Given the description of an element on the screen output the (x, y) to click on. 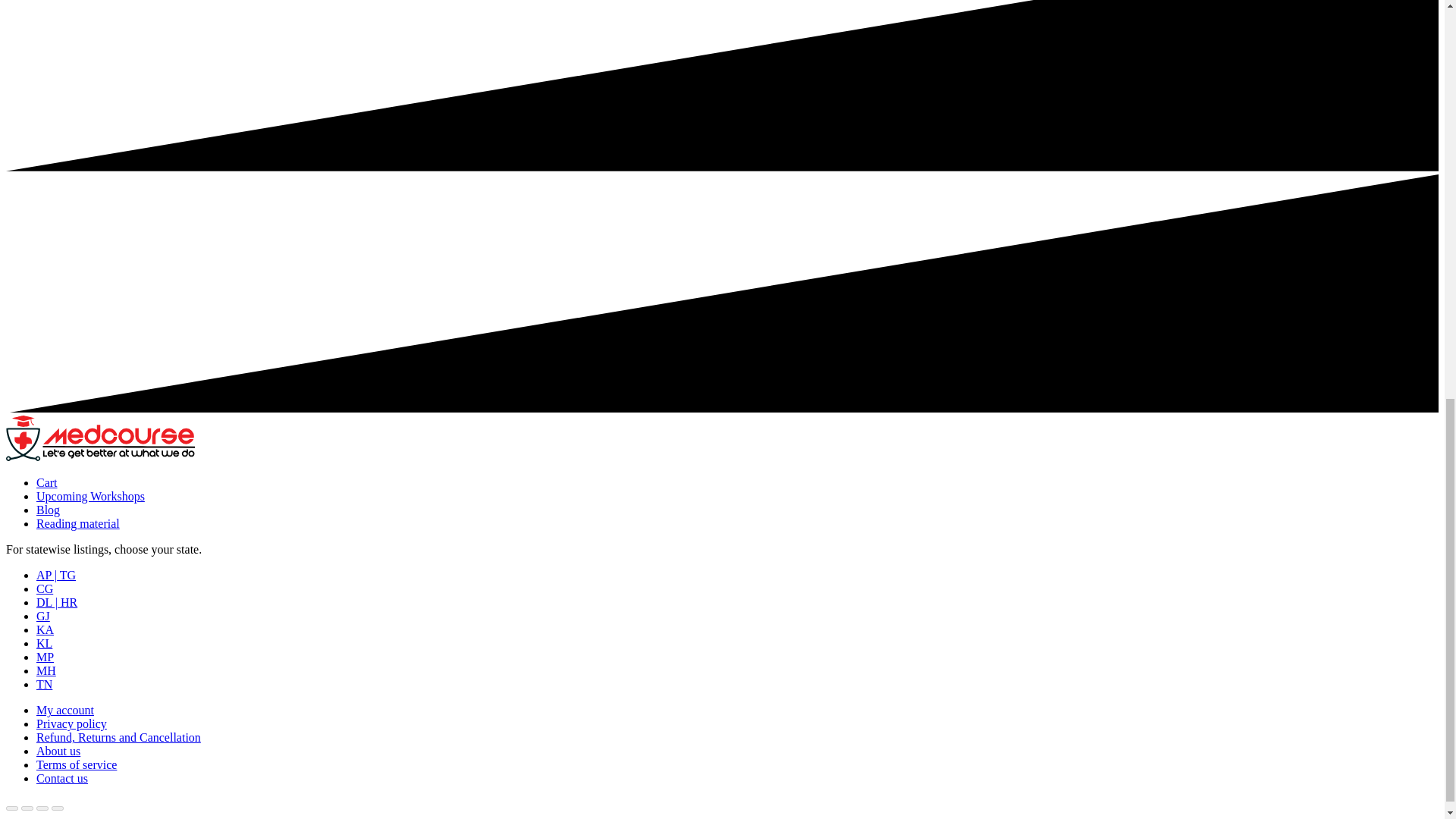
Upcoming Workshops (90, 495)
About us (58, 750)
My account (65, 709)
Reading material (77, 522)
Refund, Returns and Cancellation (118, 737)
Cart (47, 481)
Privacy policy (71, 723)
MH (46, 670)
TN (44, 684)
MP (44, 656)
KA (44, 629)
Terms of service (76, 764)
Contact us (61, 778)
CG (44, 588)
KL (44, 643)
